Given the description of an element on the screen output the (x, y) to click on. 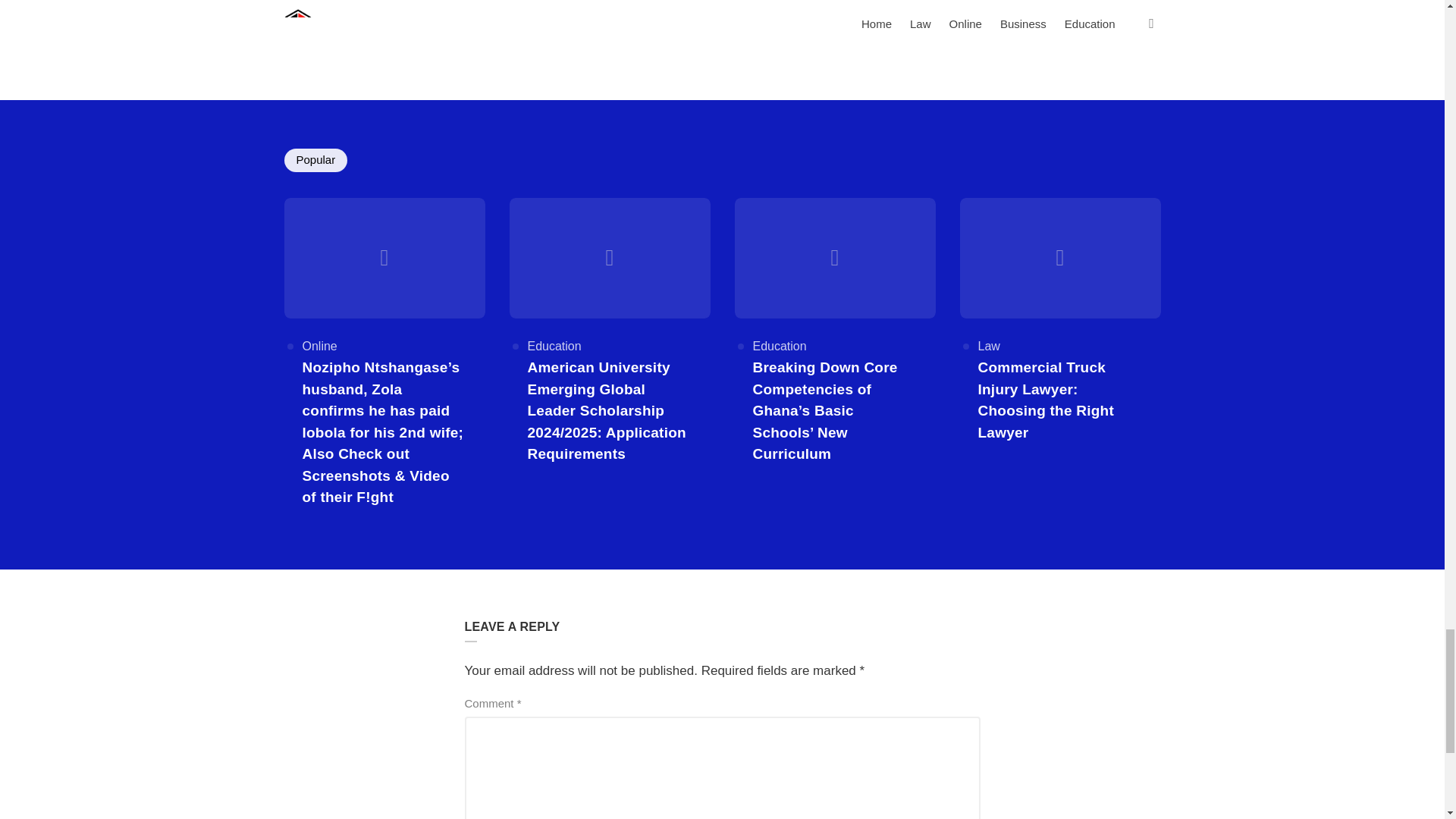
Online (318, 345)
Education (553, 345)
Popular (315, 159)
